Given the description of an element on the screen output the (x, y) to click on. 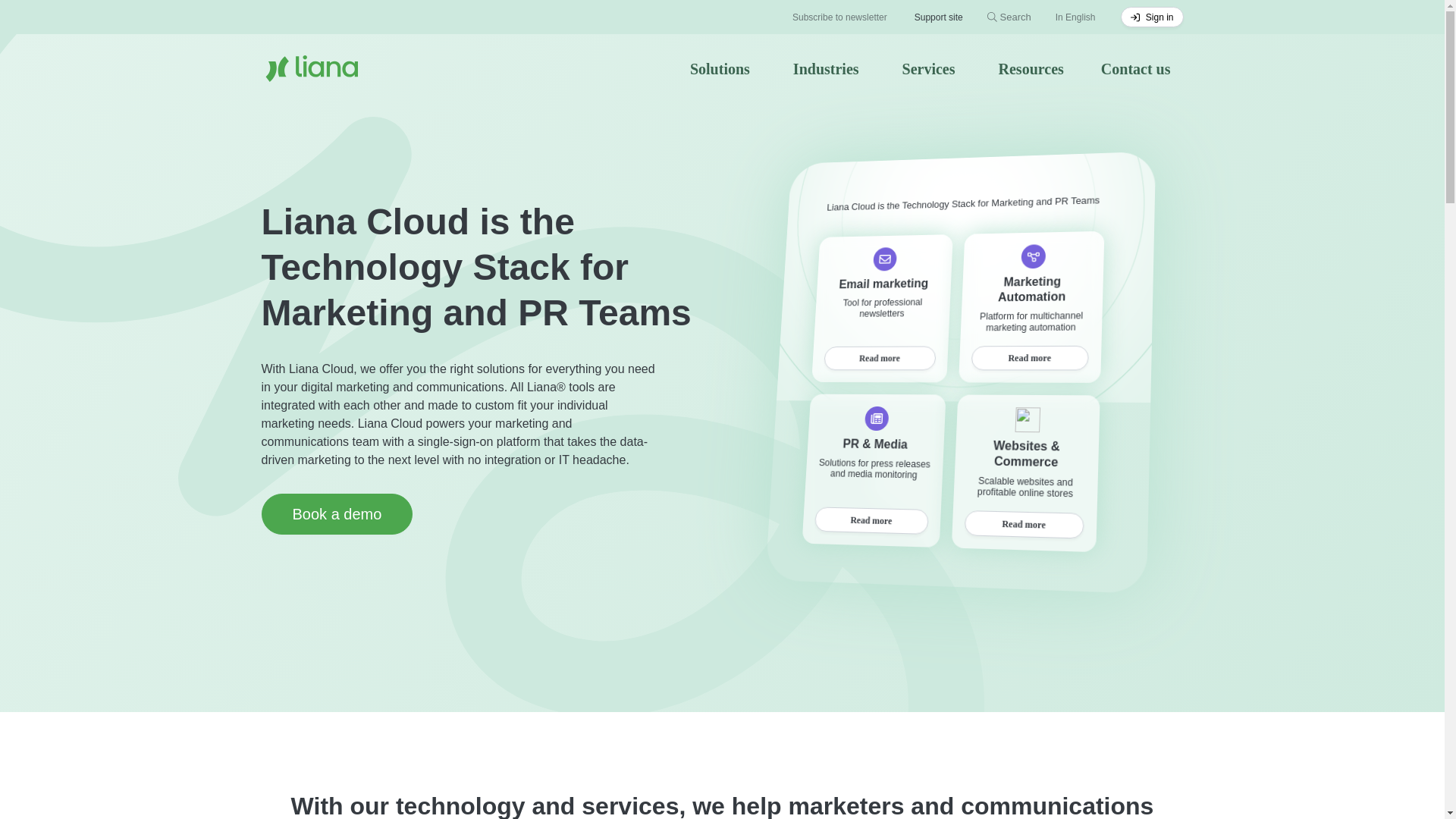
Open search bar (992, 17)
Sign in (1151, 16)
In English (1080, 17)
Solutions (726, 68)
Resources (1037, 68)
Search (1009, 17)
Subscribe to newsletter (838, 16)
Industries (832, 68)
To frontpage (305, 68)
